Given the description of an element on the screen output the (x, y) to click on. 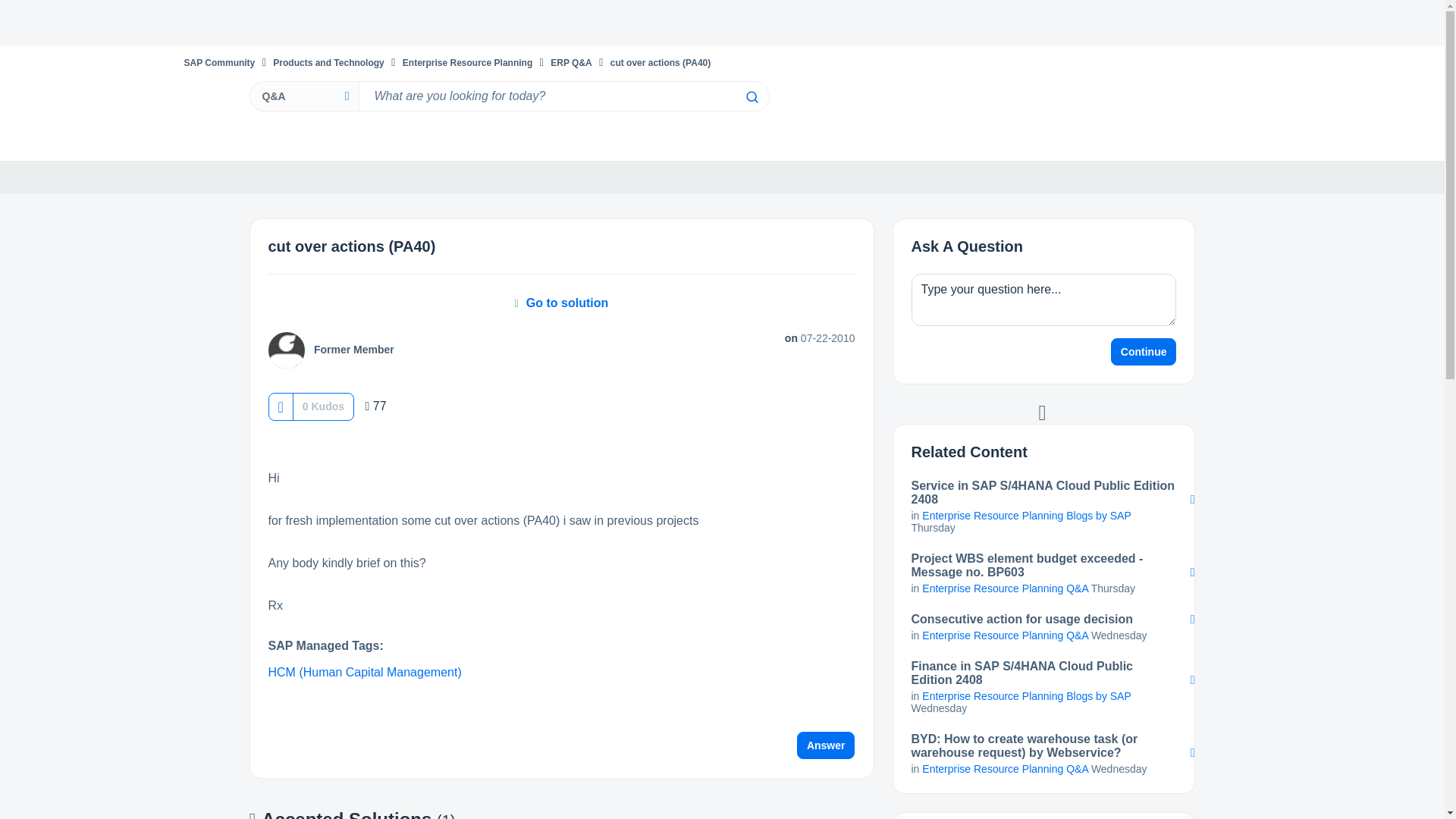
Click here to give kudos to this post. (279, 406)
Search (750, 96)
Search Granularity (303, 96)
Search (750, 96)
Search (563, 96)
Products and Technology (328, 62)
SAP Community (218, 62)
The total number of kudos this post has received. (323, 406)
Go to solution (561, 302)
Search (750, 96)
Enterprise Resource Planning (467, 62)
Continue (1143, 351)
Answer (826, 745)
